Given the description of an element on the screen output the (x, y) to click on. 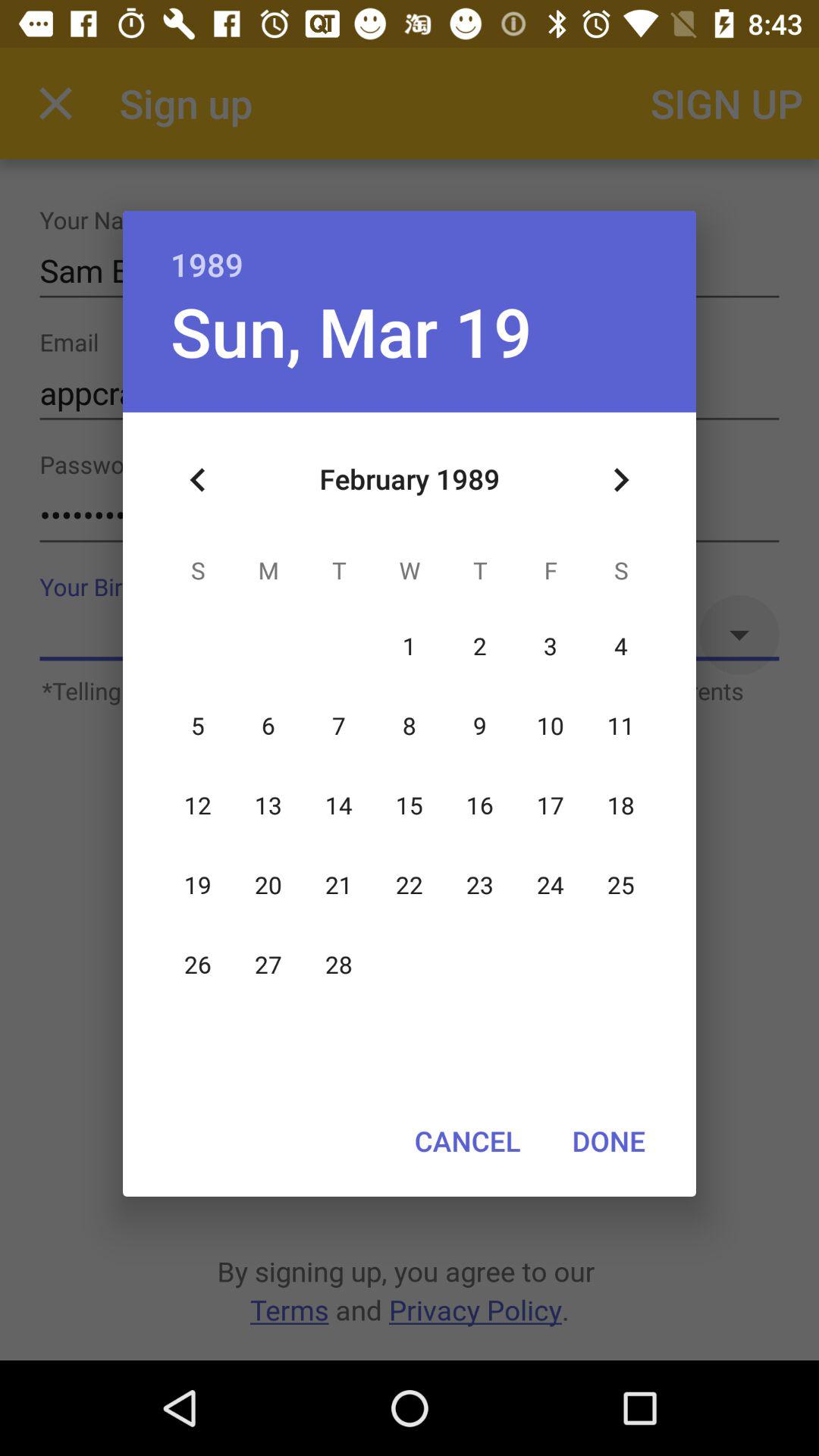
click the sun, mar 19 item (351, 331)
